Given the description of an element on the screen output the (x, y) to click on. 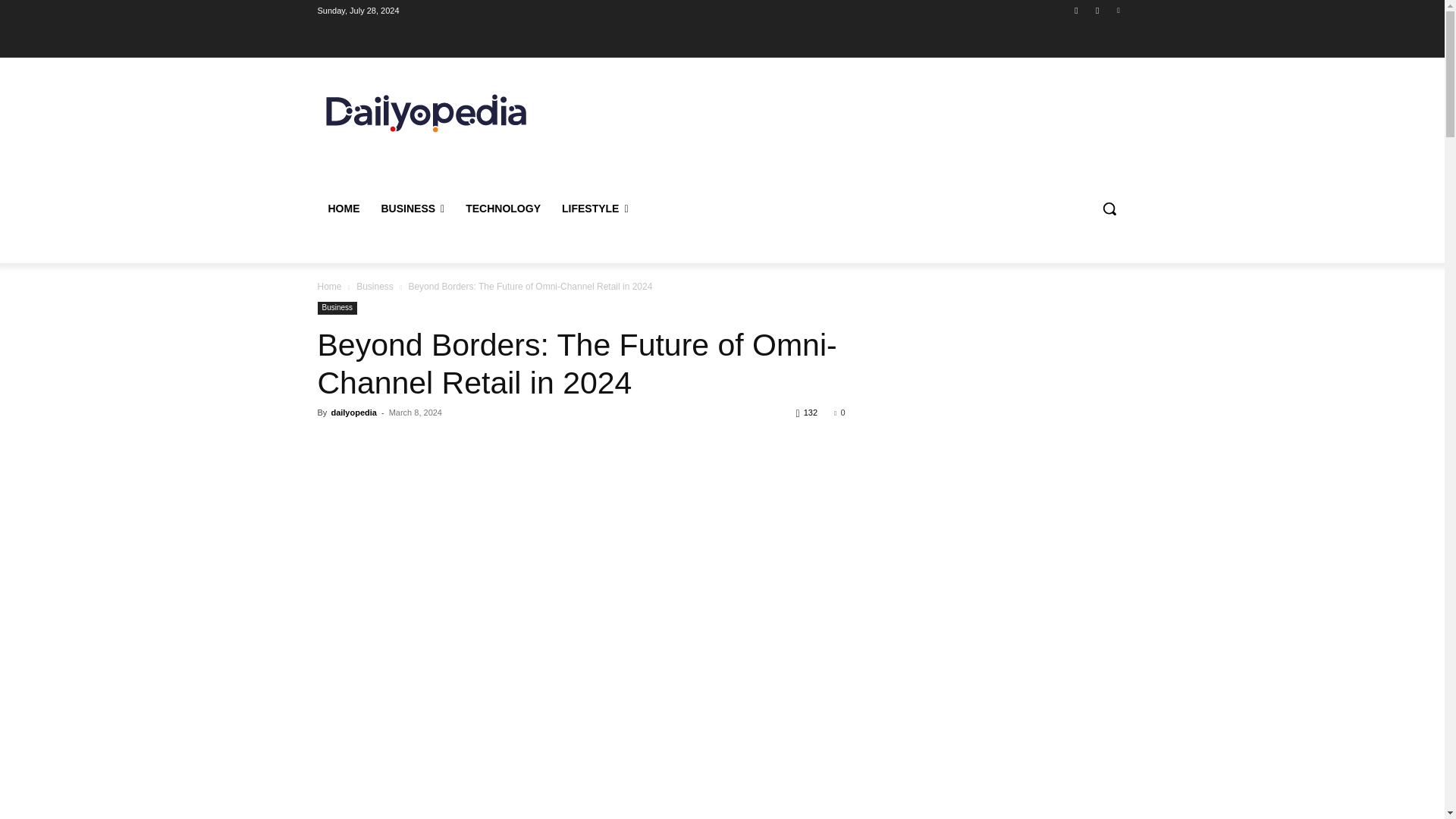
TECHNOLOGY (502, 208)
0 (839, 411)
Facebook (1075, 9)
BUSINESS (411, 208)
Linkedin (1117, 9)
Business (336, 308)
dailyopedia (353, 411)
View all posts in Business (374, 286)
HOME (343, 208)
Home (328, 286)
Business (374, 286)
LIFESTYLE (595, 208)
Instagram (1097, 9)
